Given the description of an element on the screen output the (x, y) to click on. 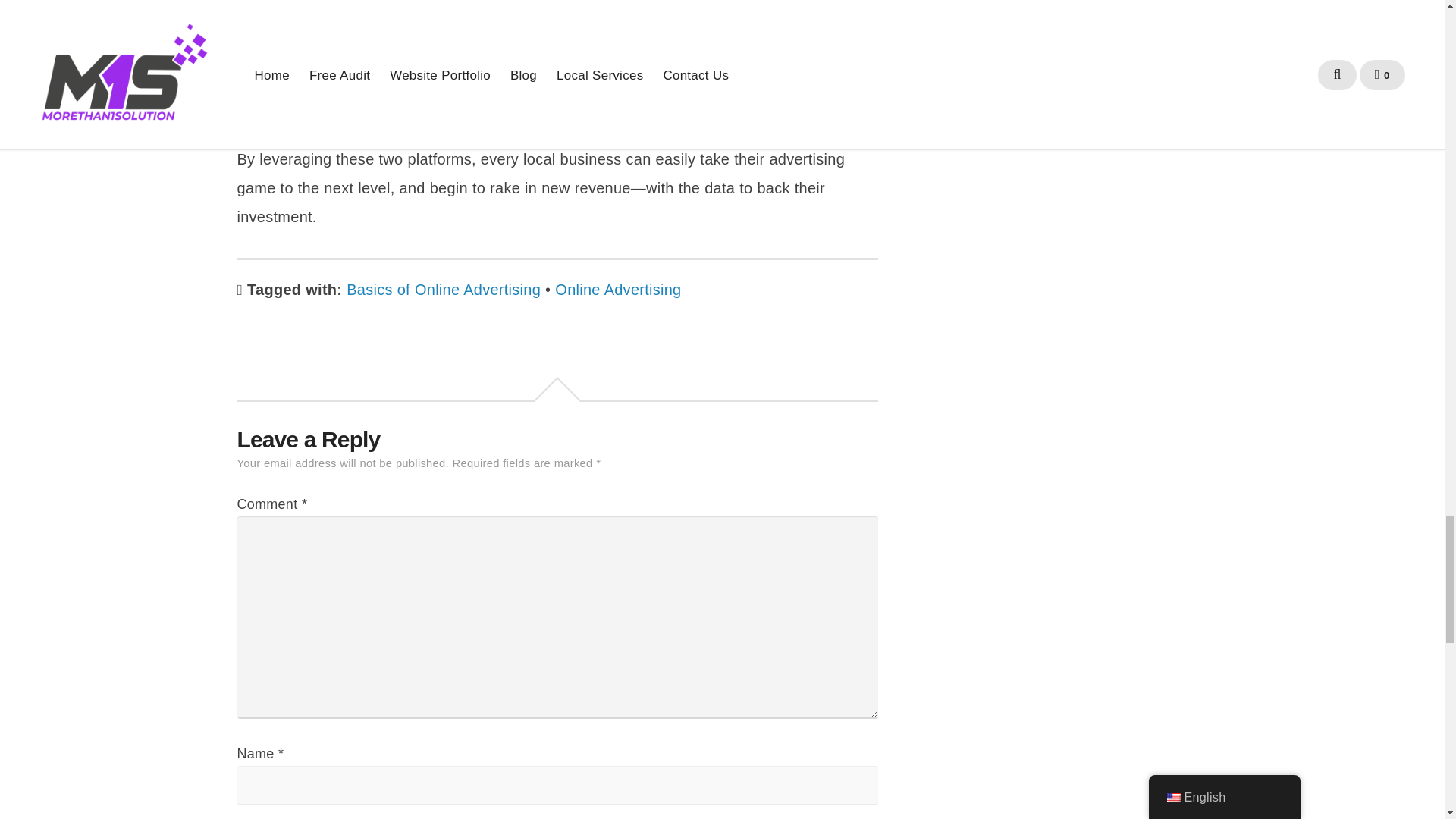
Online Advertising (617, 289)
Basics of Online Advertising (443, 289)
